Given the description of an element on the screen output the (x, y) to click on. 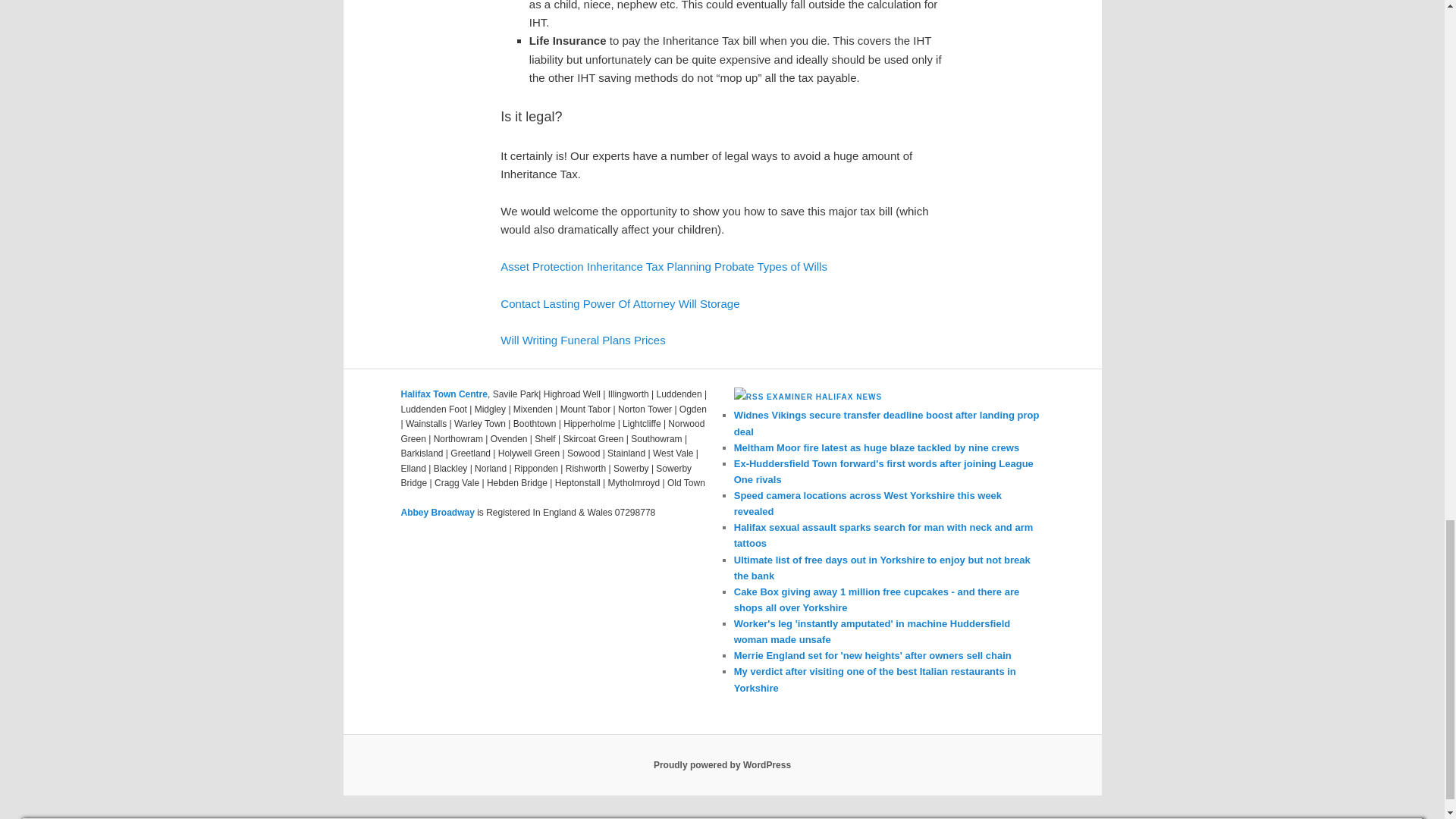
Halifax Town Centre (443, 394)
Asset Protection (541, 266)
Semantic Personal Publishing Platform (721, 765)
Prices (649, 339)
Inheritance Tax Planning (648, 266)
Abbey Broadway (437, 511)
EXAMINER HALIFAX NEWS (824, 397)
Lasting Power Of Attorney (609, 303)
Meltham Moor fire latest as huge blaze tackled by nine crews (876, 447)
Probate (734, 266)
